Given the description of an element on the screen output the (x, y) to click on. 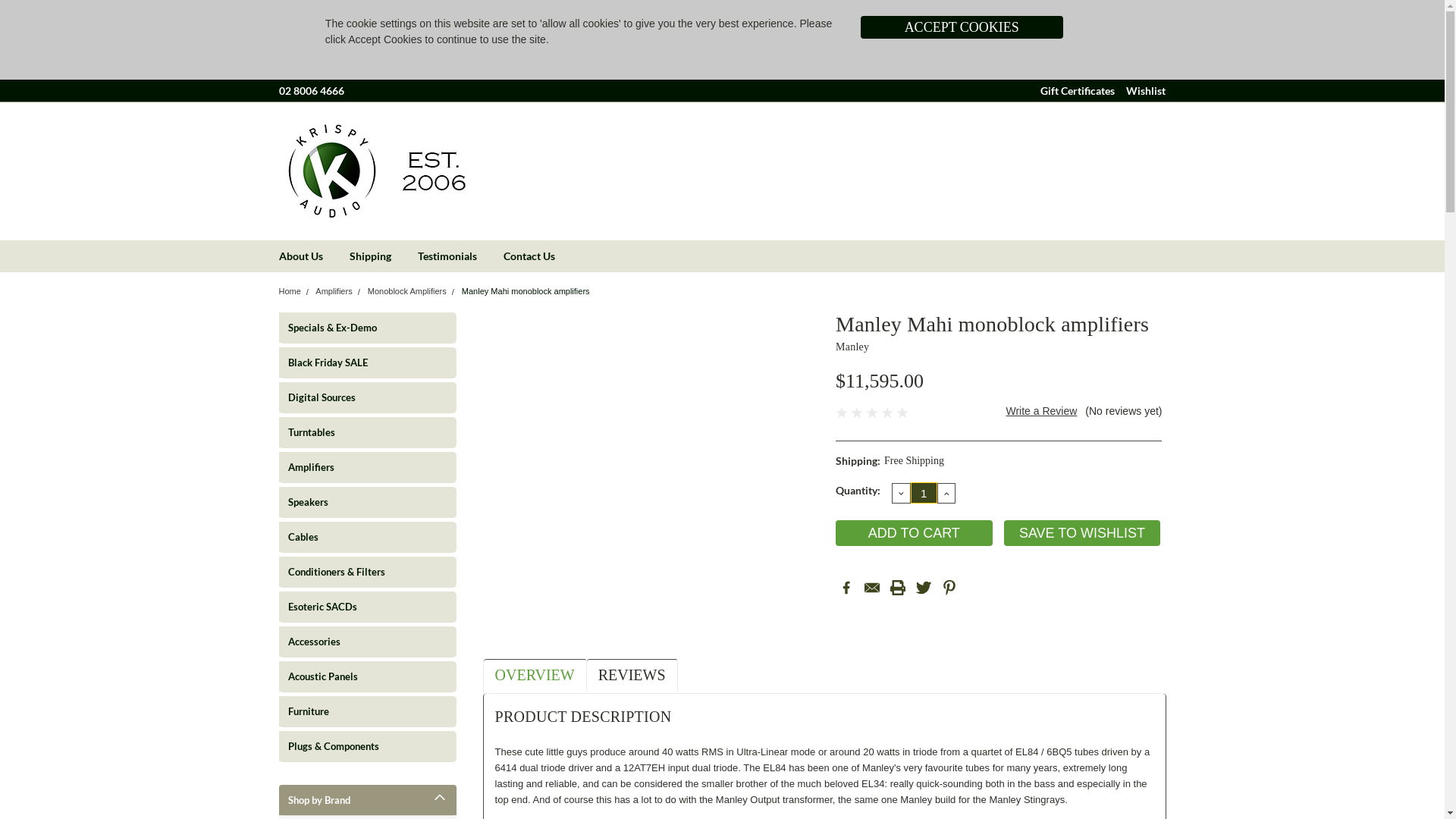
Manley Mahi monoblock amplifiers Element type: text (525, 290)
Speakers Element type: text (354, 501)
Testimonials Element type: text (459, 256)
Amplifiers Element type: text (354, 466)
Esoteric SACDs Element type: text (354, 606)
ACCEPT COOKIES Element type: text (961, 26)
Gift Certificates Element type: text (1077, 90)
Turntables Element type: text (354, 432)
Home Element type: text (290, 290)
Plugs & Components Element type: text (354, 746)
Cables Element type: text (354, 536)
About Us Element type: text (314, 256)
Monoblock Amplifiers Element type: text (406, 290)
Write a Review Element type: text (1040, 410)
Shipping Element type: text (382, 256)
Specials & Ex-Demo Element type: text (354, 327)
Print Element type: text (897, 587)
Krispy Audio Element type: hover (373, 171)
Contact Us Element type: text (542, 256)
Digital Sources Element type: text (354, 397)
Facebook Element type: text (845, 587)
Add to Cart Element type: text (913, 533)
Amplifiers Element type: text (333, 290)
Twitter Element type: text (923, 587)
Shop by Brand Element type: text (367, 799)
Wishlist Element type: text (1144, 90)
Manley Element type: text (852, 346)
Email Element type: text (871, 587)
Accessories Element type: text (354, 641)
SAVE TO WISHLIST Element type: text (1082, 533)
Acoustic Panels Element type: text (354, 676)
DECREASE QUANTITY: Element type: text (900, 493)
REVIEWS Element type: text (631, 674)
Pinterest Element type: text (949, 587)
Furniture Element type: text (354, 711)
Black Friday SALE Element type: text (354, 362)
OVERVIEW Element type: text (534, 674)
Conditioners & Filters Element type: text (354, 571)
INCREASE QUANTITY: Element type: text (946, 493)
02 8006 4666 Element type: text (311, 90)
